Given the description of an element on the screen output the (x, y) to click on. 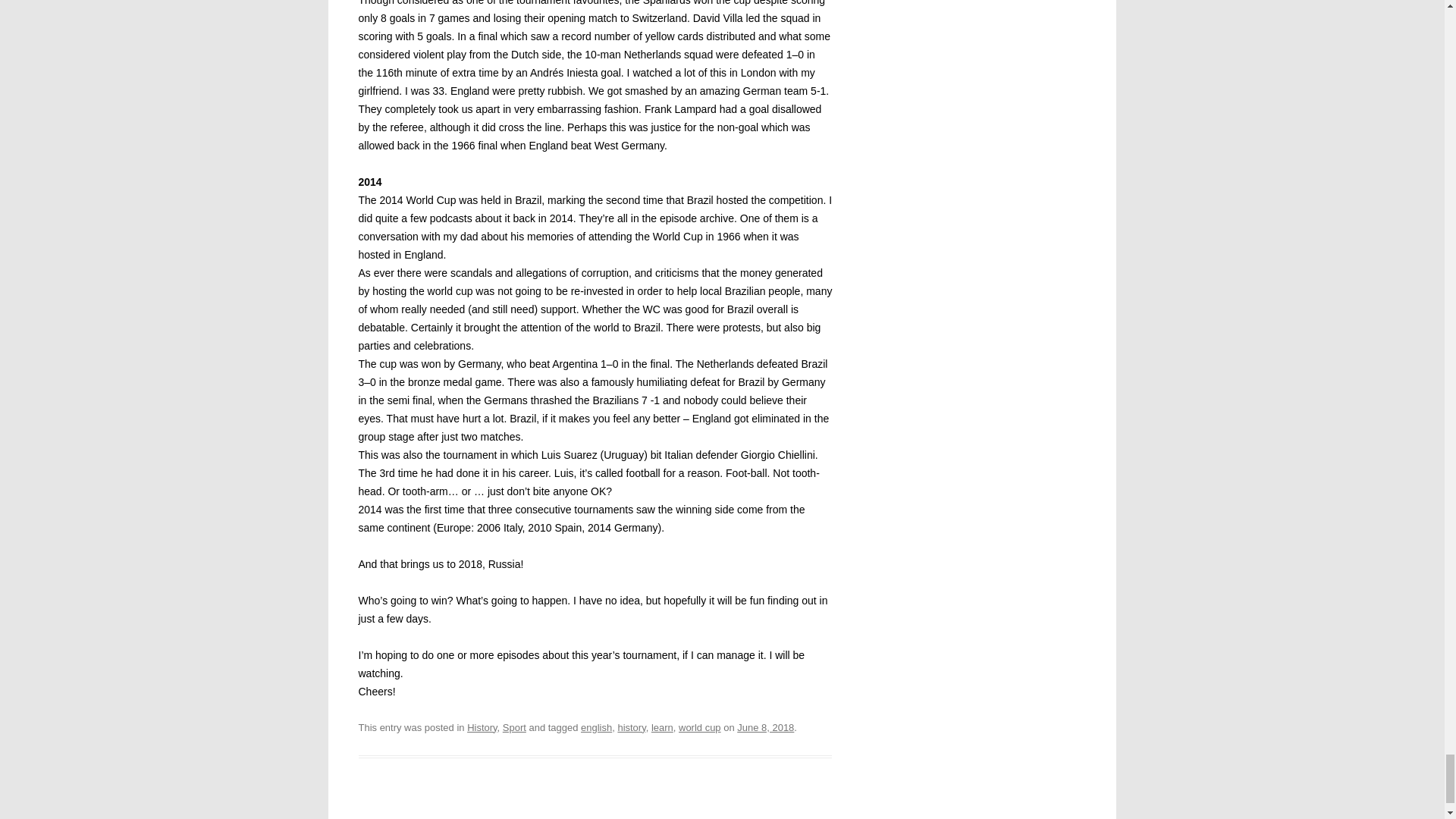
english (595, 727)
Sport (513, 727)
history (631, 727)
learn (661, 727)
11:13 am (764, 727)
History (481, 727)
